Given the description of an element on the screen output the (x, y) to click on. 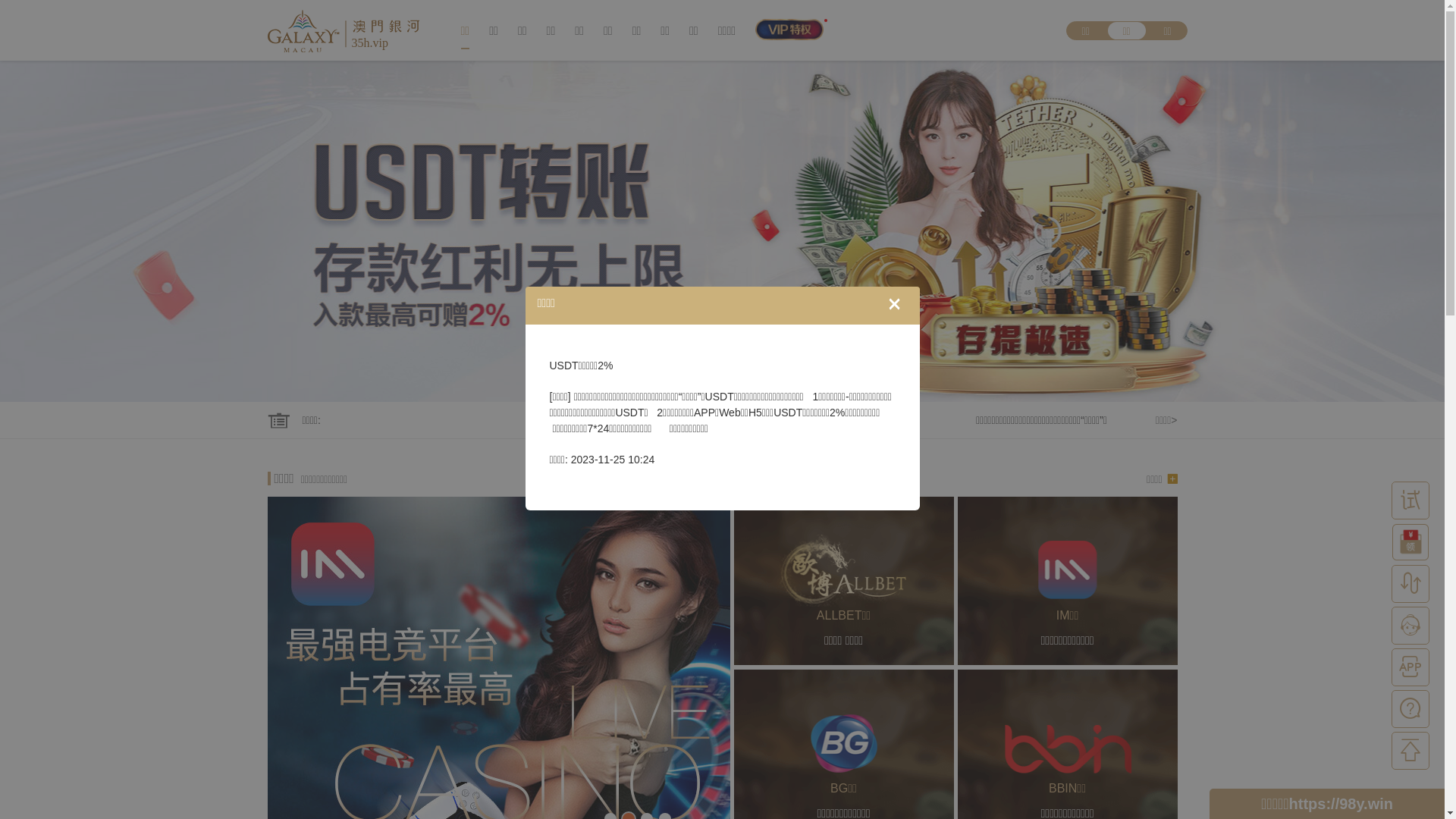
33h.vip Element type: text (342, 30)
